Given the description of an element on the screen output the (x, y) to click on. 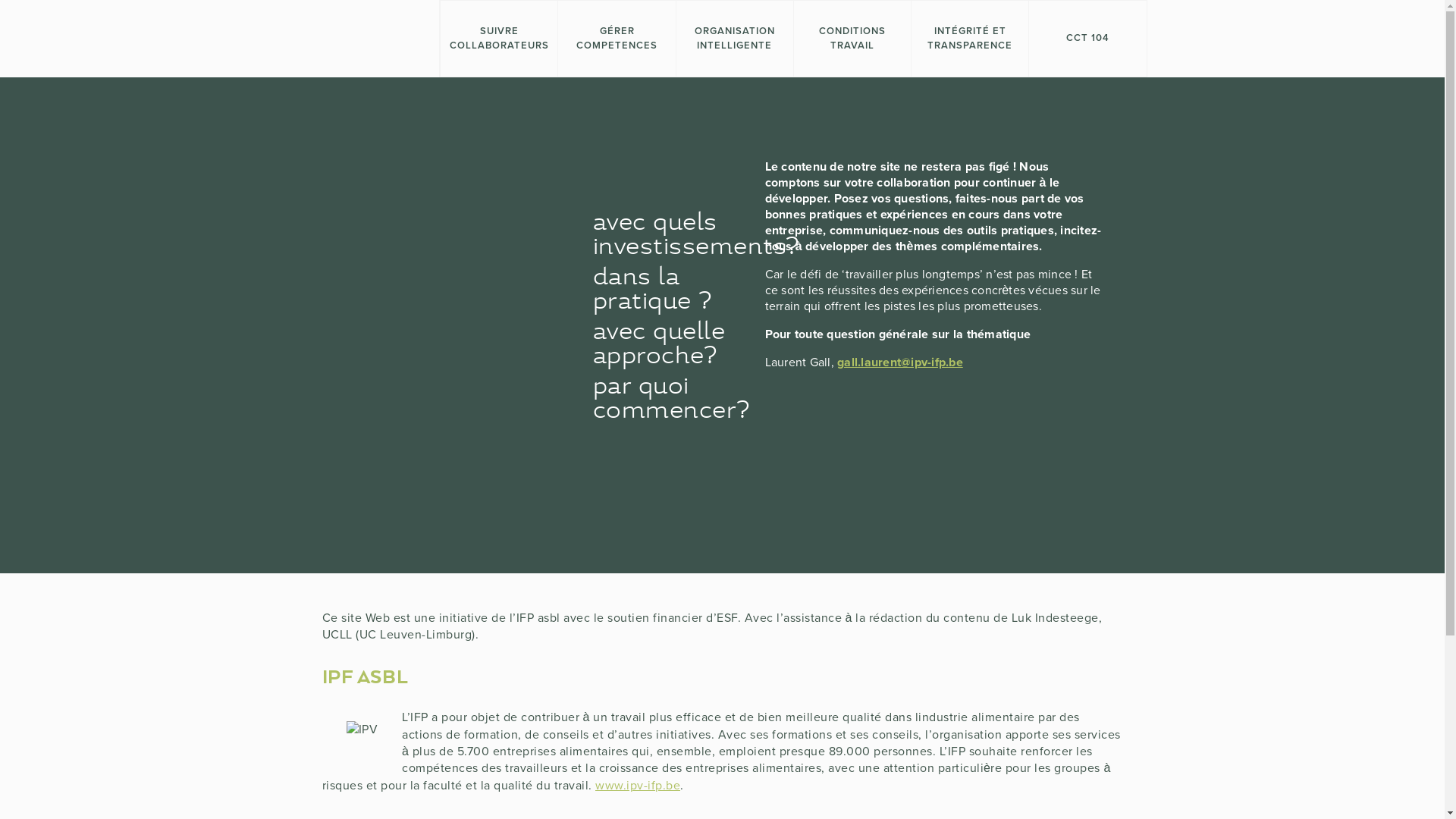
CCT 104 Element type: text (1086, 38)
www.ipv-ifp.be Element type: text (637, 785)
CONDITIONS TRAVAIL Element type: text (851, 38)
ORGANISATION INTELLIGENTE Element type: text (734, 38)
Home Element type: hover (357, 37)
gall.laurent@ipv-ifp.be Element type: text (900, 362)
SUIVRE COLLABORATEURS Element type: text (498, 38)
